Given the description of an element on the screen output the (x, y) to click on. 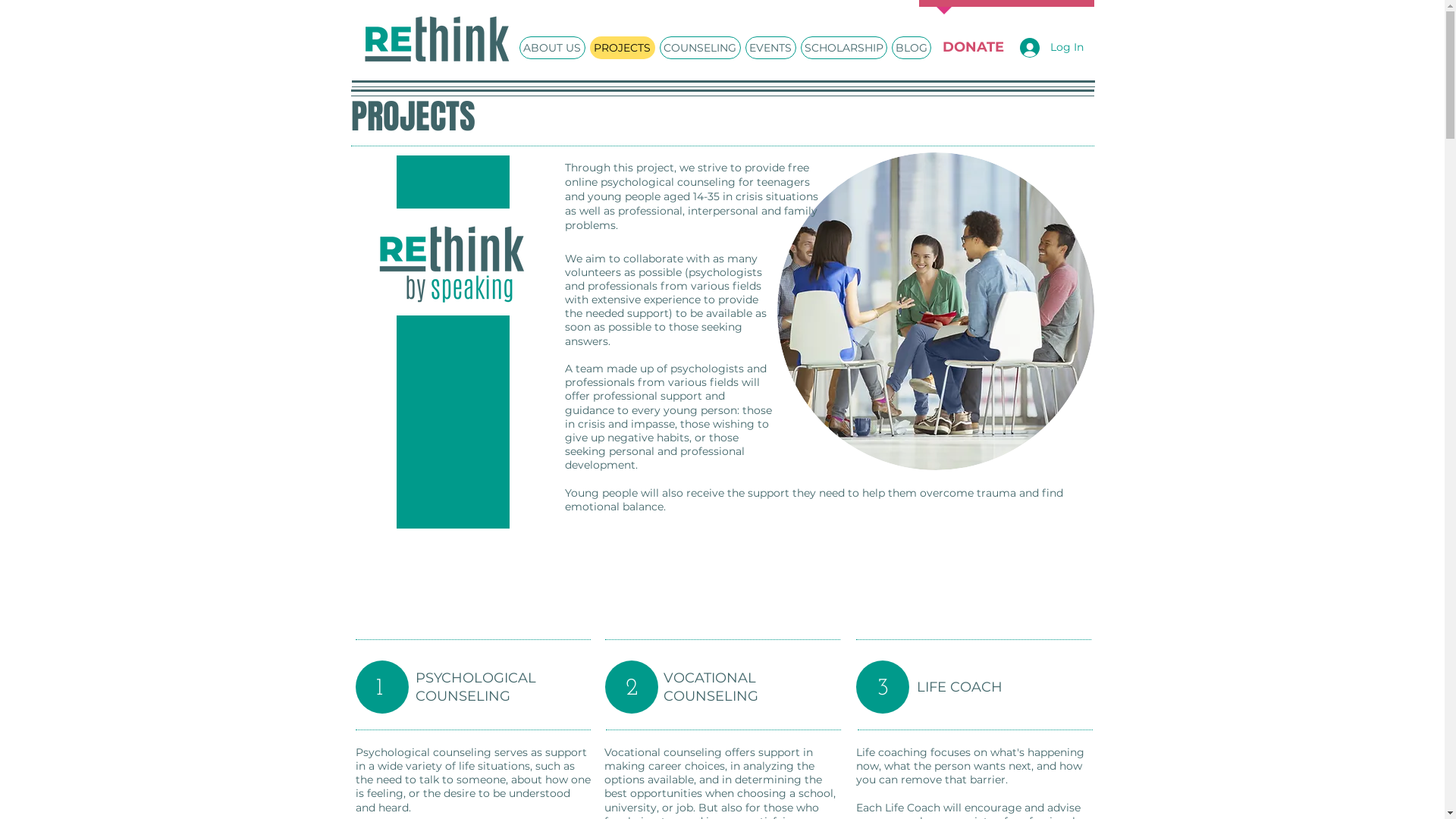
PROJECTS Element type: text (622, 47)
COUNSELING Element type: text (699, 47)
DONATE Element type: text (972, 47)
SCHOLARSHIP Element type: text (843, 47)
BLOG Element type: text (911, 47)
Log In Element type: text (1050, 47)
ABOUT US Element type: text (551, 47)
EVENTS Element type: text (769, 47)
